Given the description of an element on the screen output the (x, y) to click on. 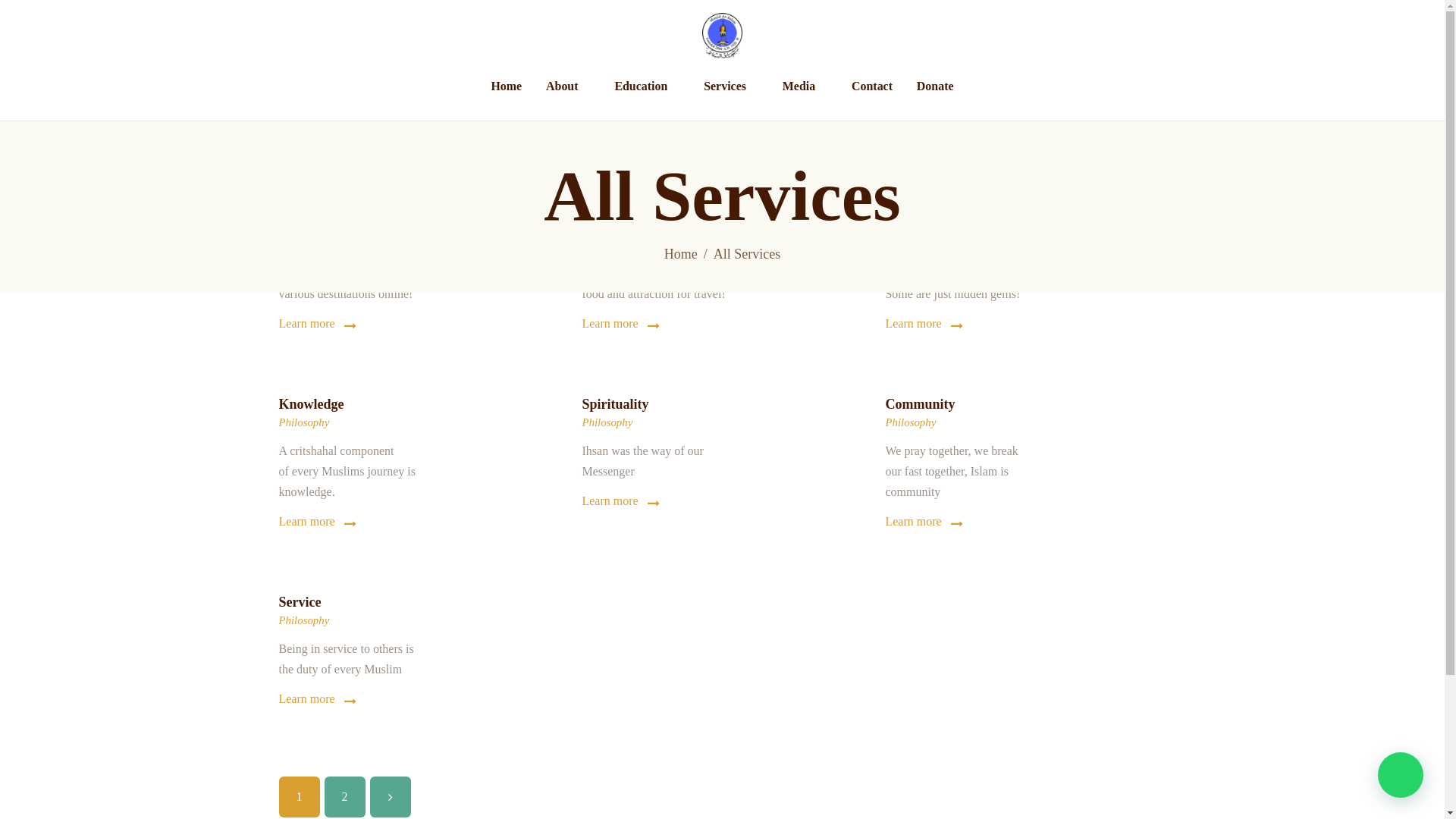
View all posts in Tourism (903, 224)
View all posts in Philosophy (605, 422)
Media (805, 86)
View all posts in Attractions (605, 26)
View all posts in Attractions (304, 26)
Education (646, 86)
Home (506, 86)
View all posts in Philosophy (910, 422)
About (568, 86)
View all posts in Philosophy (304, 620)
